Given the description of an element on the screen output the (x, y) to click on. 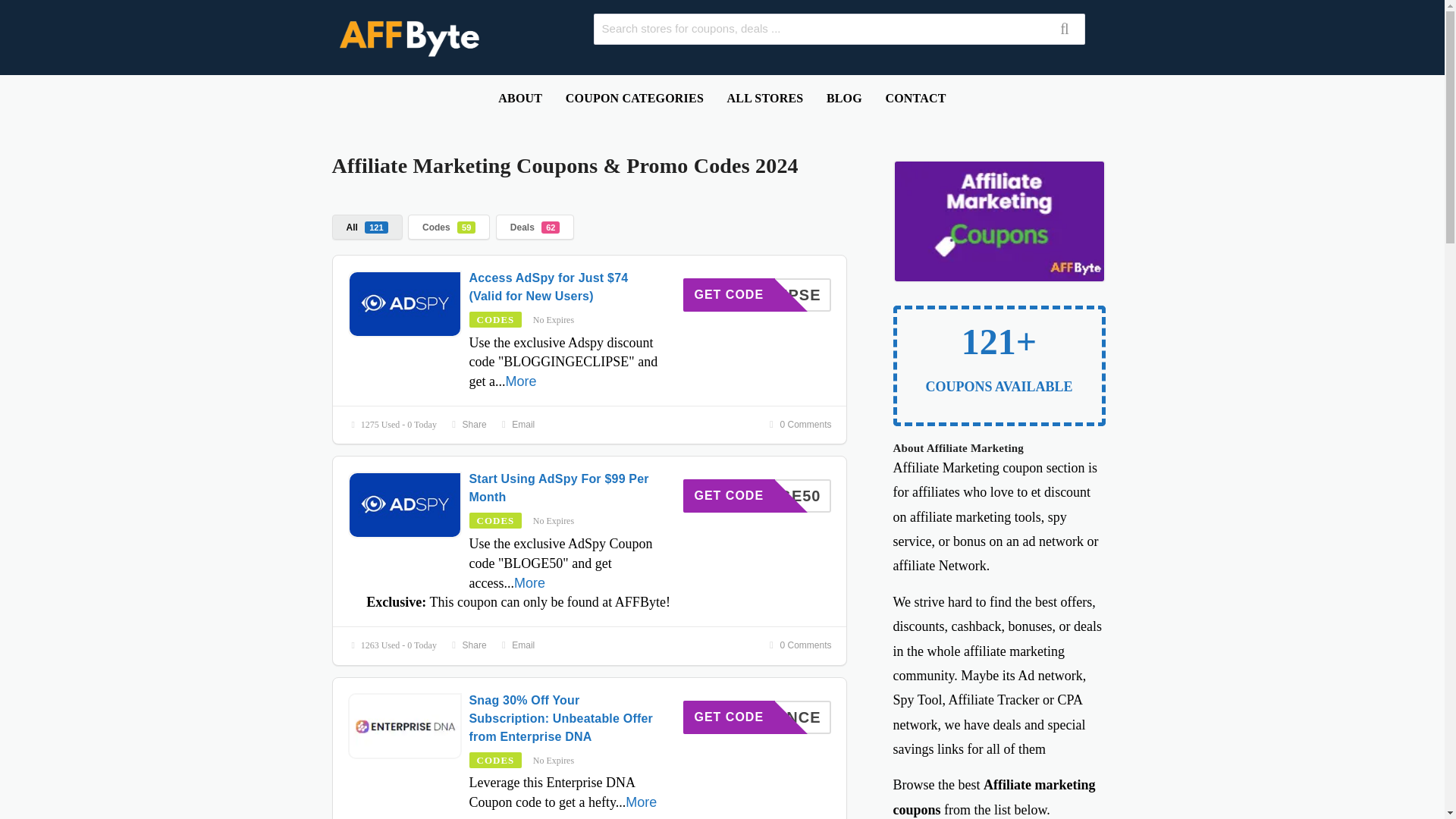
AdSpy Free Credits (404, 303)
COUPON CATEGORIES (634, 97)
ABOUT (519, 97)
Share (756, 295)
More (467, 644)
Email (520, 381)
Send this coupon to an email (516, 424)
All 121 (516, 644)
0 Comments (367, 226)
